Given the description of an element on the screen output the (x, y) to click on. 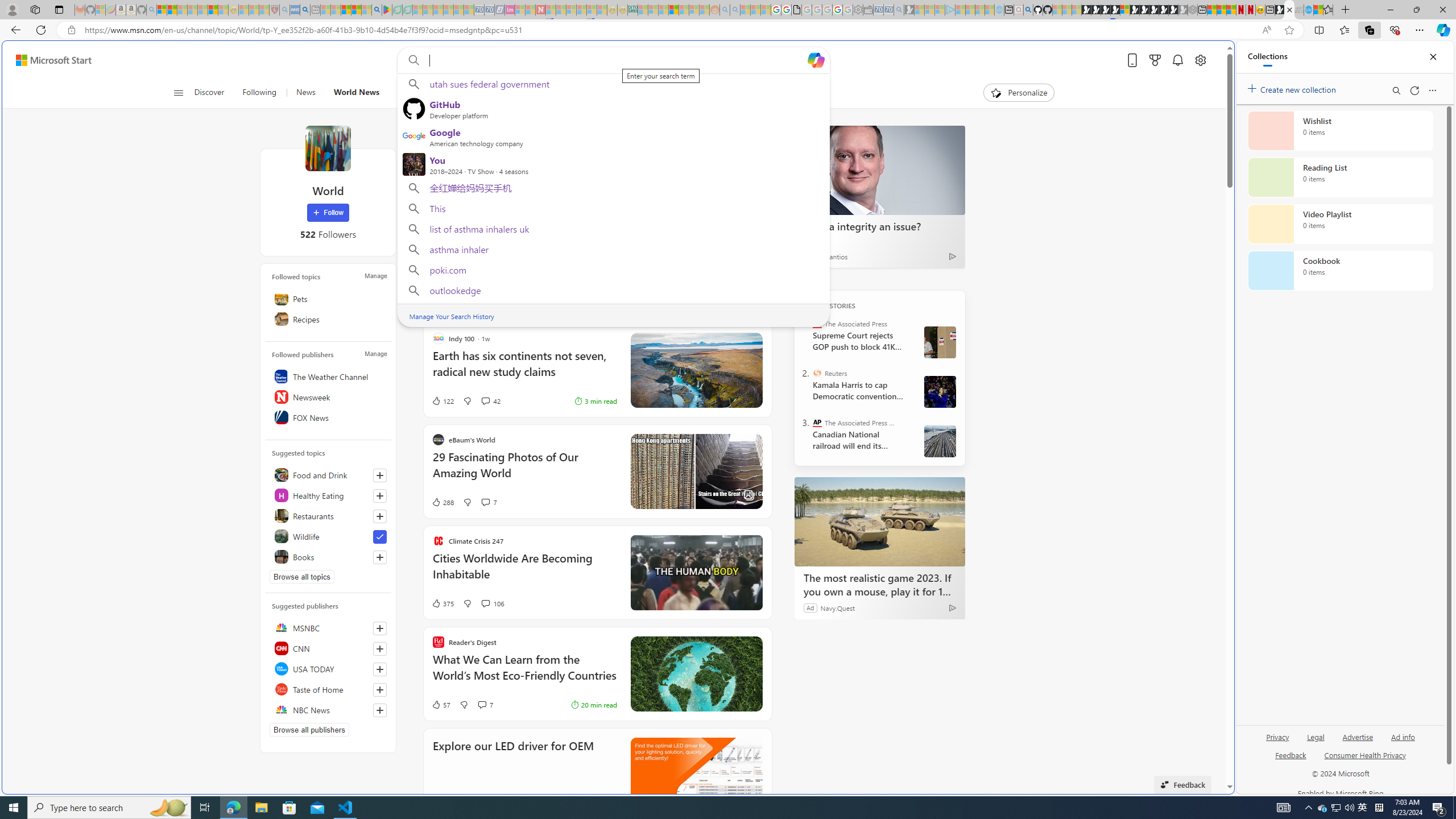
Create new collection (1293, 87)
Sign in to your account (1124, 9)
Expert Portfolios (673, 9)
